Given the description of an element on the screen output the (x, y) to click on. 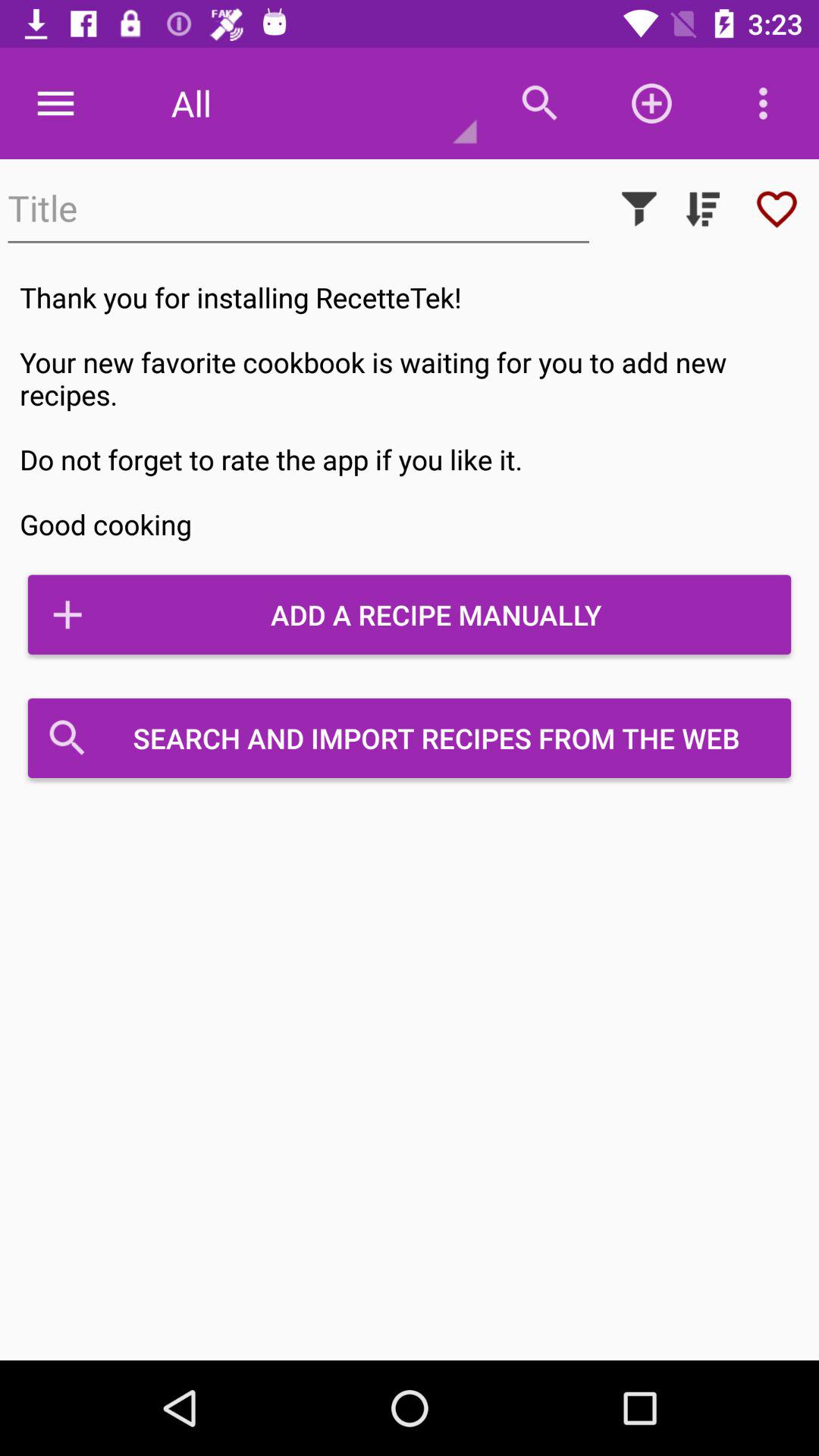
choose item above thank you for (776, 208)
